Given the description of an element on the screen output the (x, y) to click on. 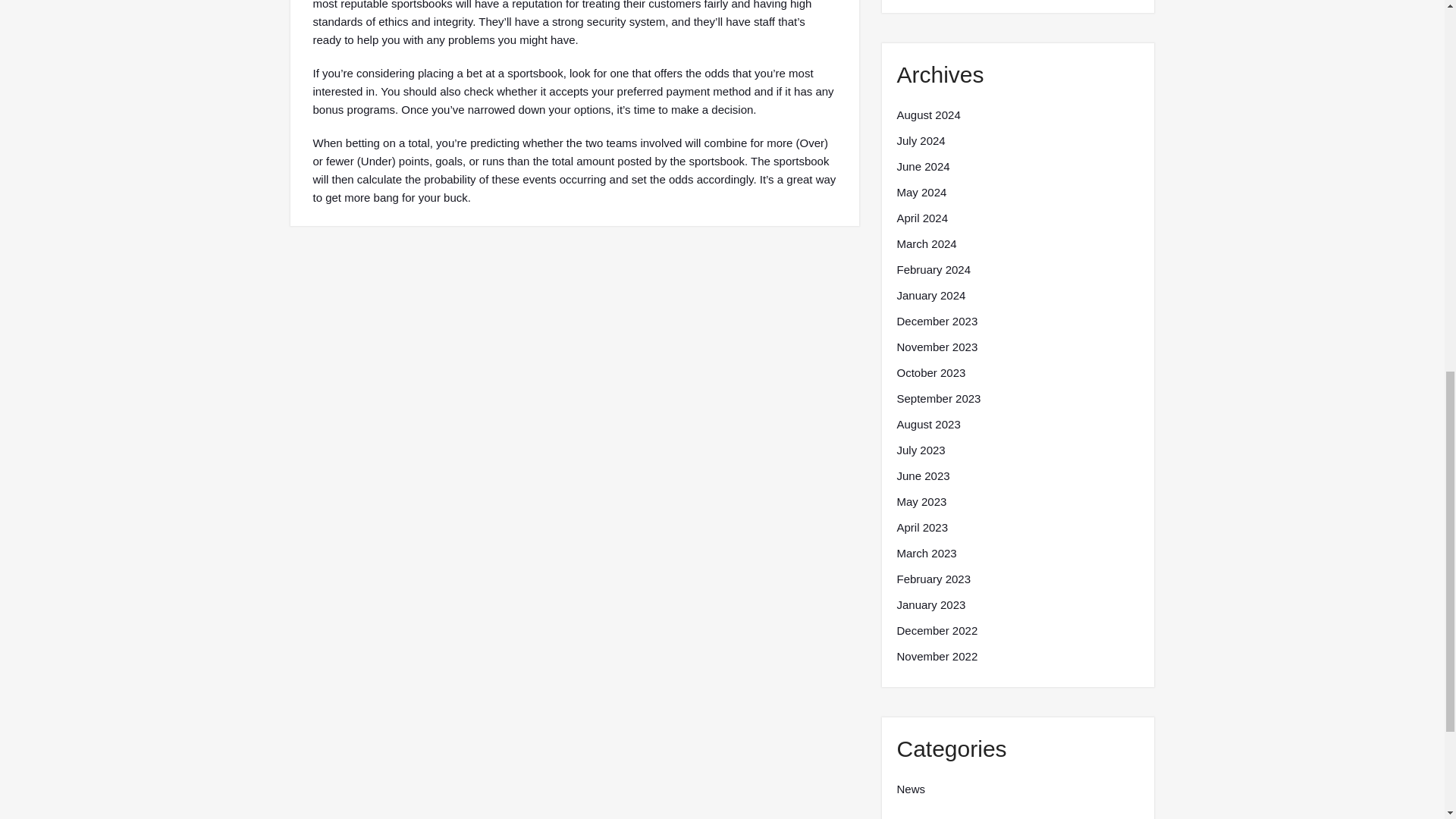
April 2023 (921, 527)
February 2023 (933, 579)
September 2023 (937, 398)
June 2024 (922, 167)
October 2023 (930, 372)
July 2024 (920, 140)
November 2022 (936, 656)
News (910, 789)
May 2024 (921, 192)
January 2023 (930, 605)
February 2024 (933, 270)
May 2023 (921, 502)
January 2024 (930, 295)
March 2023 (926, 553)
July 2023 (920, 450)
